Given the description of an element on the screen output the (x, y) to click on. 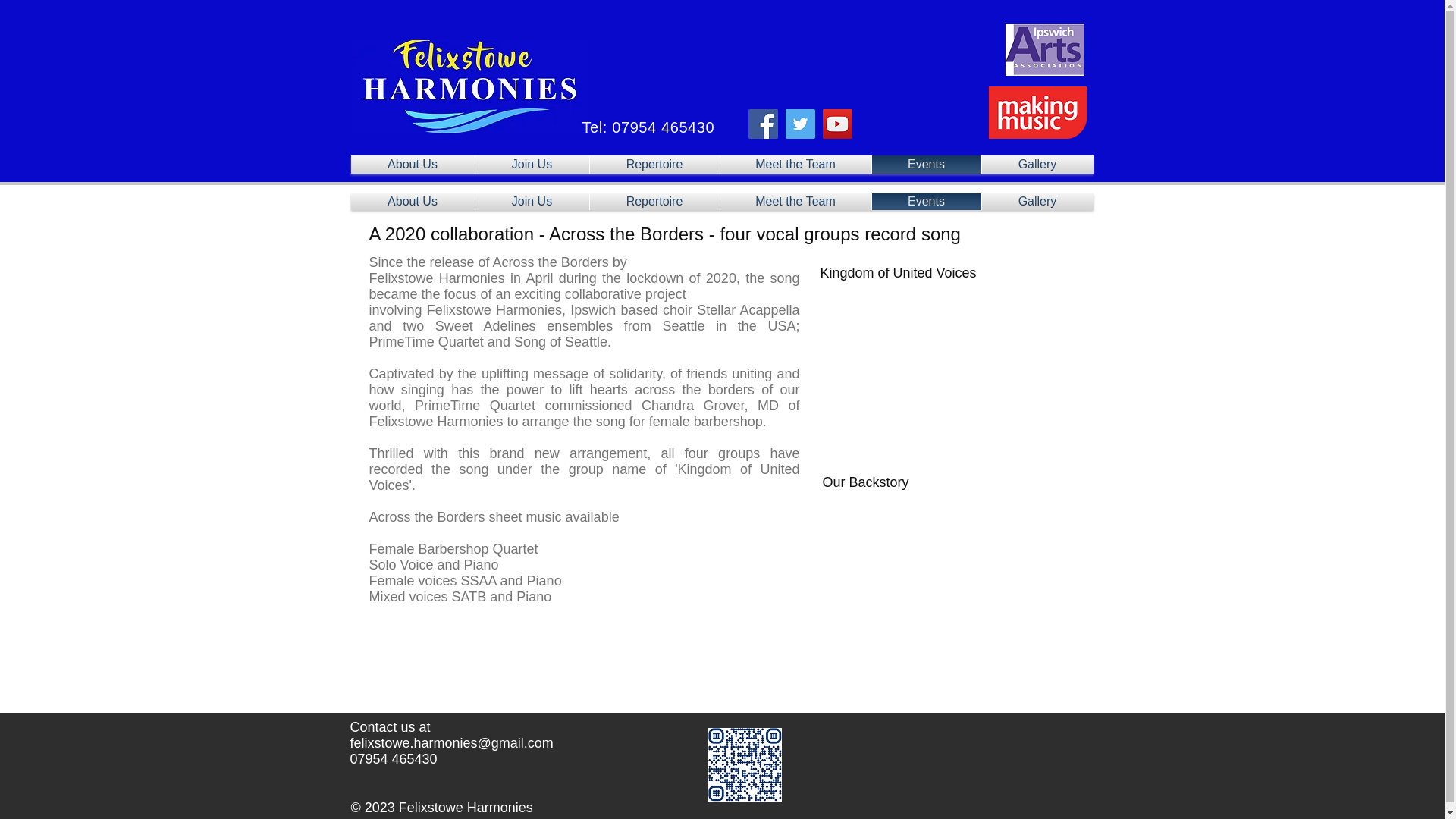
Join Us (531, 201)
Female Barbershop Quartet (452, 548)
Meet the Team (795, 201)
Repertoire (654, 164)
Gallery (1037, 164)
Meet the Team (795, 164)
Repertoire (654, 201)
logo-making-music.png (1037, 112)
Join Us (531, 164)
About Us (412, 201)
